Given the description of an element on the screen output the (x, y) to click on. 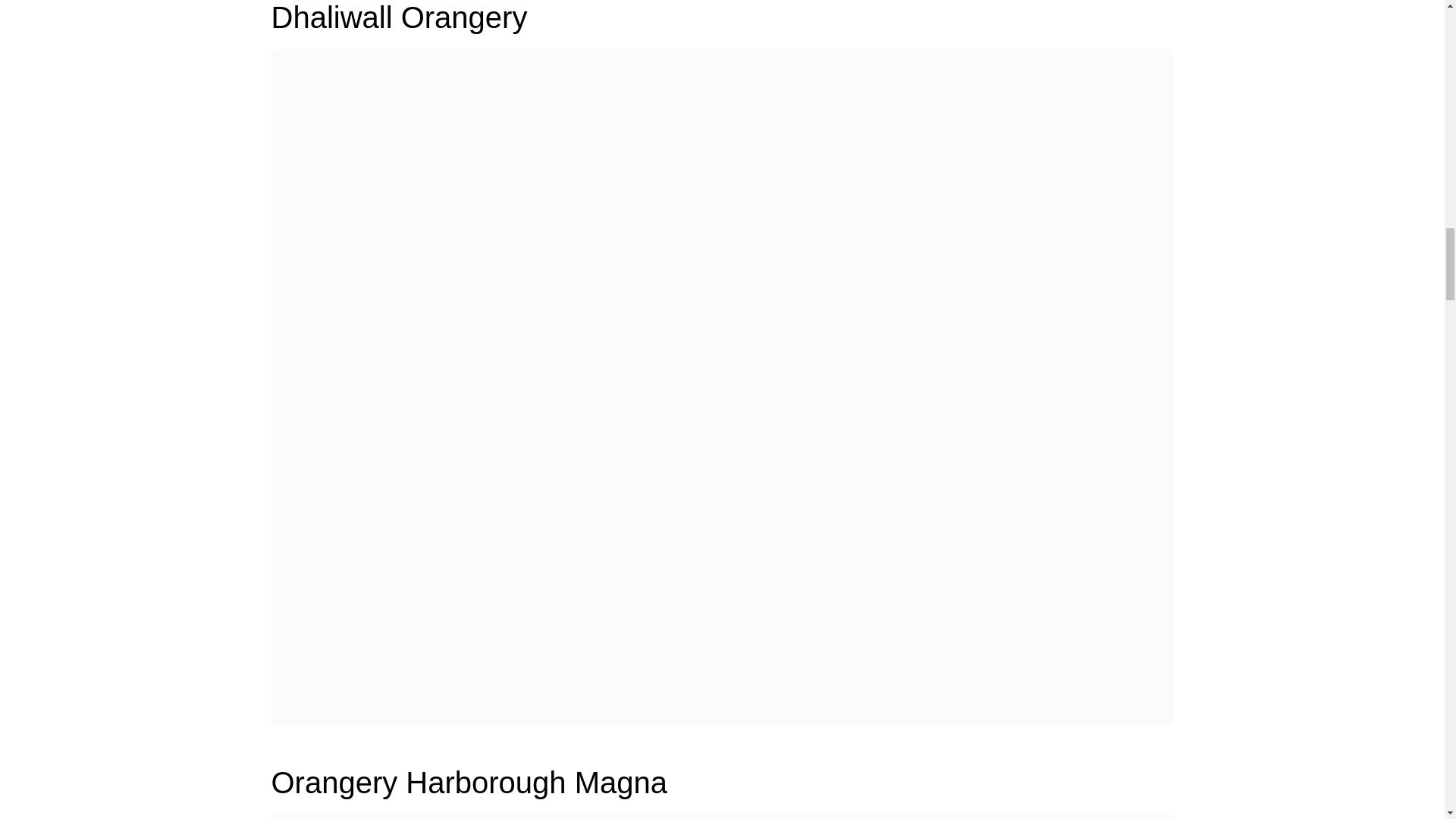
Dhaliwall Orangery (398, 17)
Dhaliwall Orangery (721, 386)
Orangery Harborough Magna (469, 782)
